Given the description of an element on the screen output the (x, y) to click on. 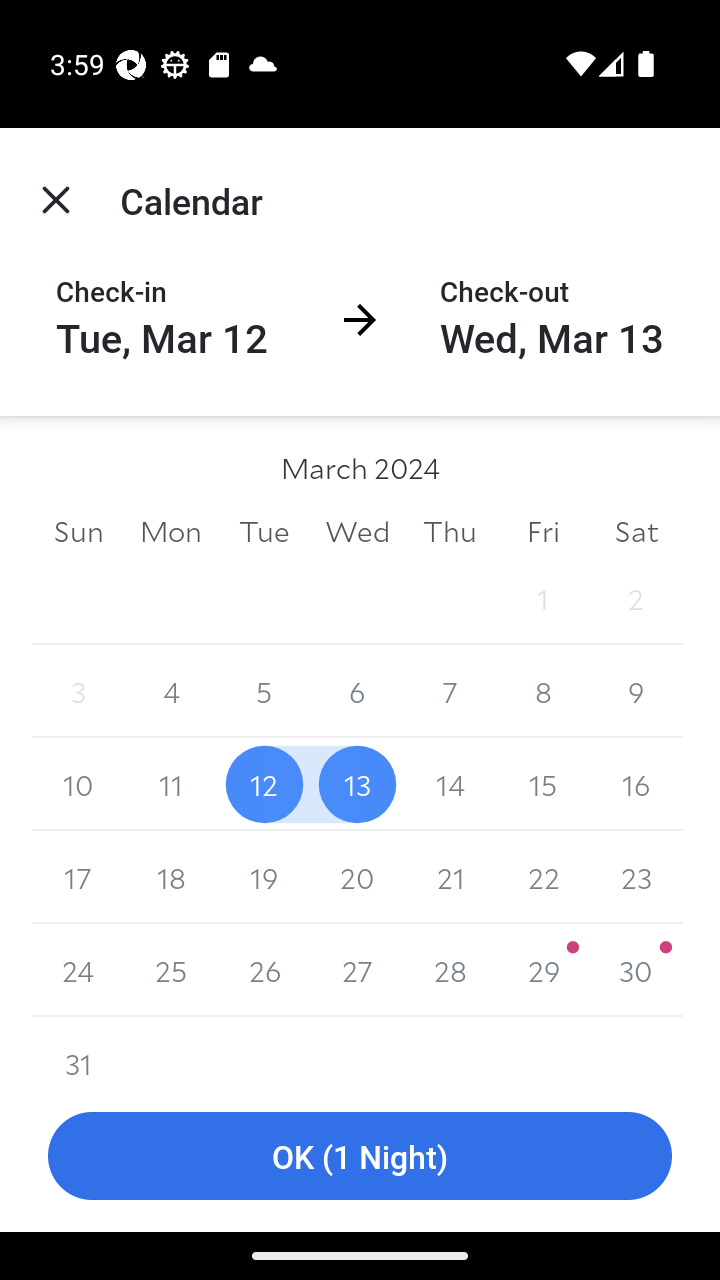
Sun (78, 530)
Mon (171, 530)
Tue (264, 530)
Wed (357, 530)
Thu (449, 530)
Fri (542, 530)
Sat (636, 530)
1 1 March 2024 (542, 598)
2 2 March 2024 (636, 598)
3 3 March 2024 (78, 691)
4 4 March 2024 (171, 691)
5 5 March 2024 (264, 691)
6 6 March 2024 (357, 691)
7 7 March 2024 (449, 691)
8 8 March 2024 (542, 691)
9 9 March 2024 (636, 691)
10 10 March 2024 (78, 784)
11 11 March 2024 (171, 784)
12 12 March 2024 (264, 784)
13 13 March 2024 (357, 784)
14 14 March 2024 (449, 784)
15 15 March 2024 (542, 784)
16 16 March 2024 (636, 784)
17 17 March 2024 (78, 877)
18 18 March 2024 (171, 877)
19 19 March 2024 (264, 877)
20 20 March 2024 (357, 877)
21 21 March 2024 (449, 877)
22 22 March 2024 (542, 877)
23 23 March 2024 (636, 877)
24 24 March 2024 (78, 970)
25 25 March 2024 (171, 970)
26 26 March 2024 (264, 970)
27 27 March 2024 (357, 970)
28 28 March 2024 (449, 970)
29 29 March 2024 (542, 970)
30 30 March 2024 (636, 970)
31 31 March 2024 (78, 1048)
OK (1 Night) (359, 1156)
